Given the description of an element on the screen output the (x, y) to click on. 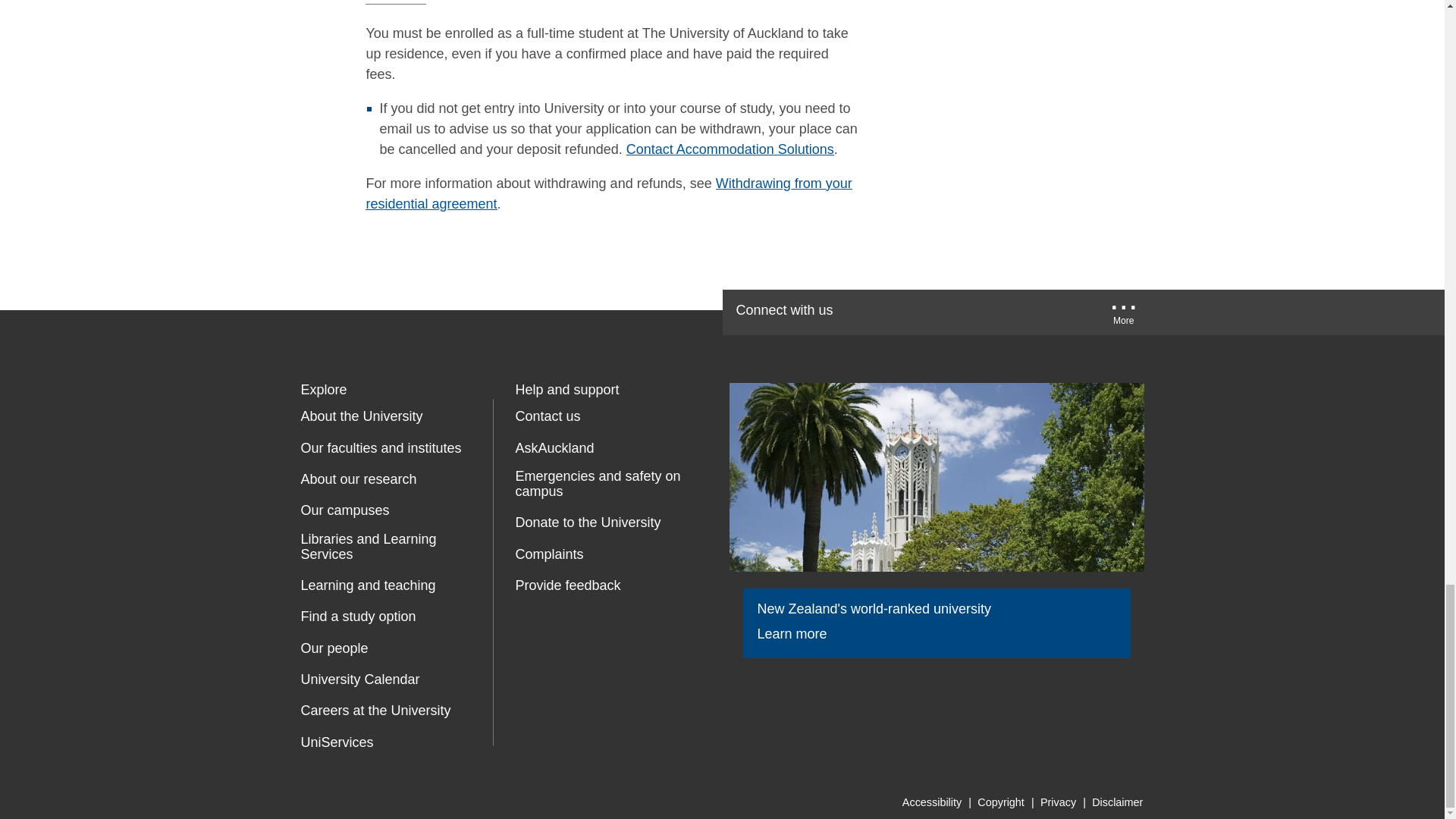
Facebook (876, 312)
Women's Refuge (528, 650)
University of Auckland More Social... (1123, 316)
Instagram (1069, 312)
Learn more (802, 634)
LinkedIn (1021, 312)
Twitter (925, 312)
YouTube (972, 312)
